Given the description of an element on the screen output the (x, y) to click on. 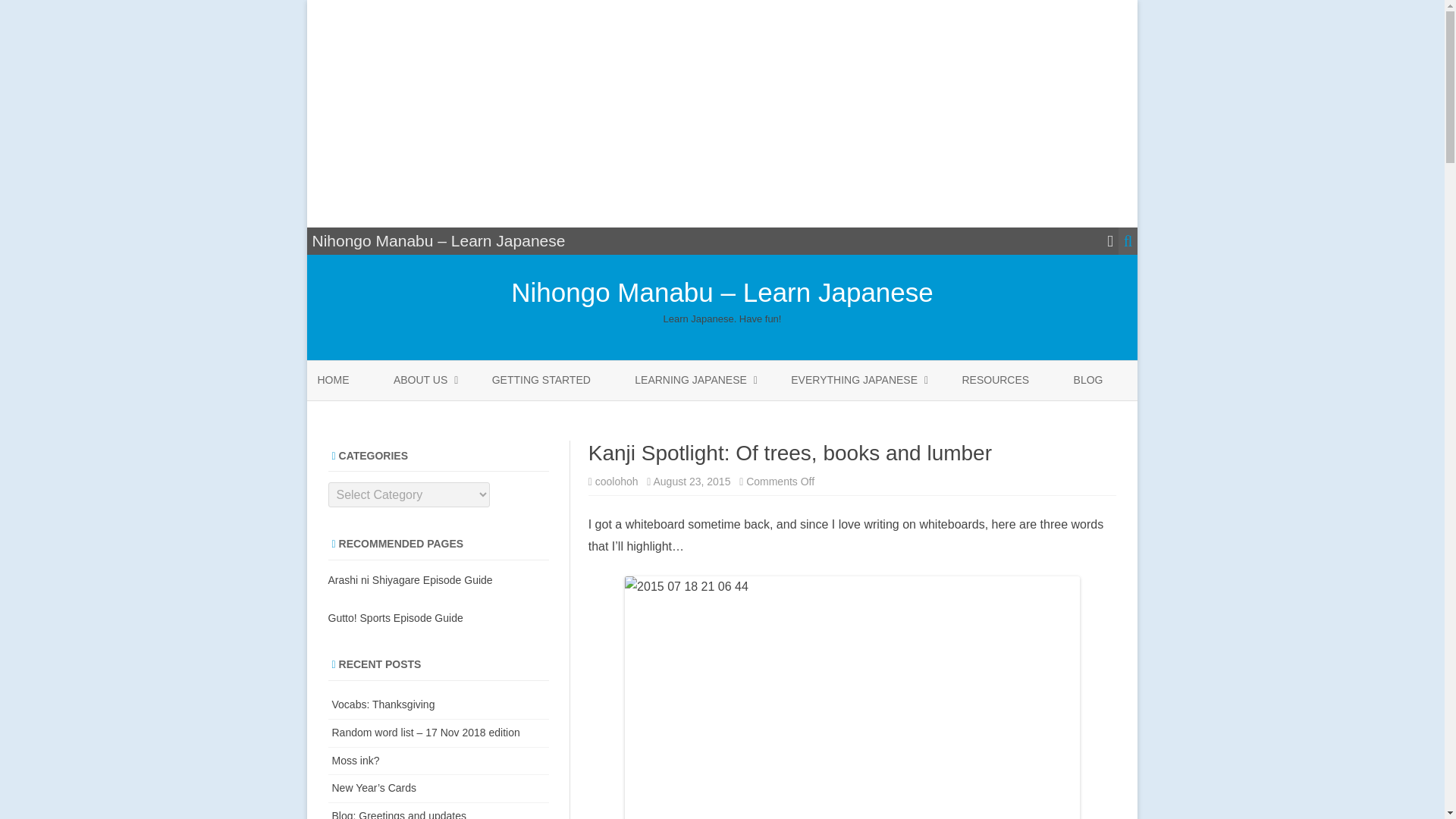
COOLOHOH (468, 415)
2015-07-18 21.06.44.jpg (852, 697)
ABOUT US (419, 380)
GETTING STARTED (541, 380)
